Given the description of an element on the screen output the (x, y) to click on. 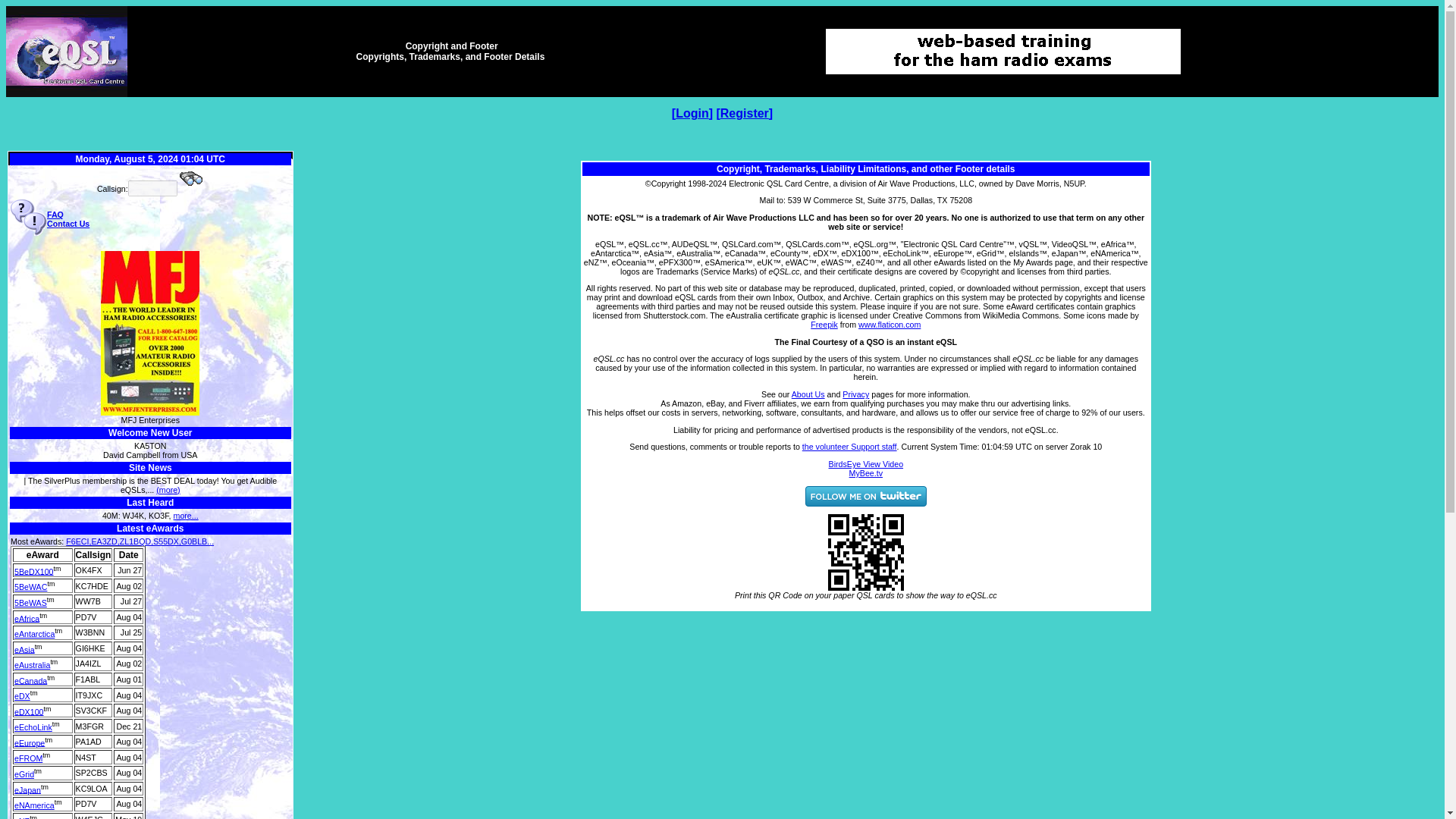
eAntarctica (34, 633)
eNAmerica (34, 804)
eAfrica (26, 617)
Login (692, 113)
more... (185, 515)
The Practice Exam with Memory (1002, 51)
Contact Us (67, 223)
eCanada (30, 679)
Call Search (191, 179)
F6ECI,EA3ZD,ZL1BQD,S55DX,G0BLB... (139, 541)
eEurope (29, 741)
Flaticon (889, 324)
eNZ (21, 817)
5BeWAC (30, 586)
eJapan (27, 788)
